Given the description of an element on the screen output the (x, y) to click on. 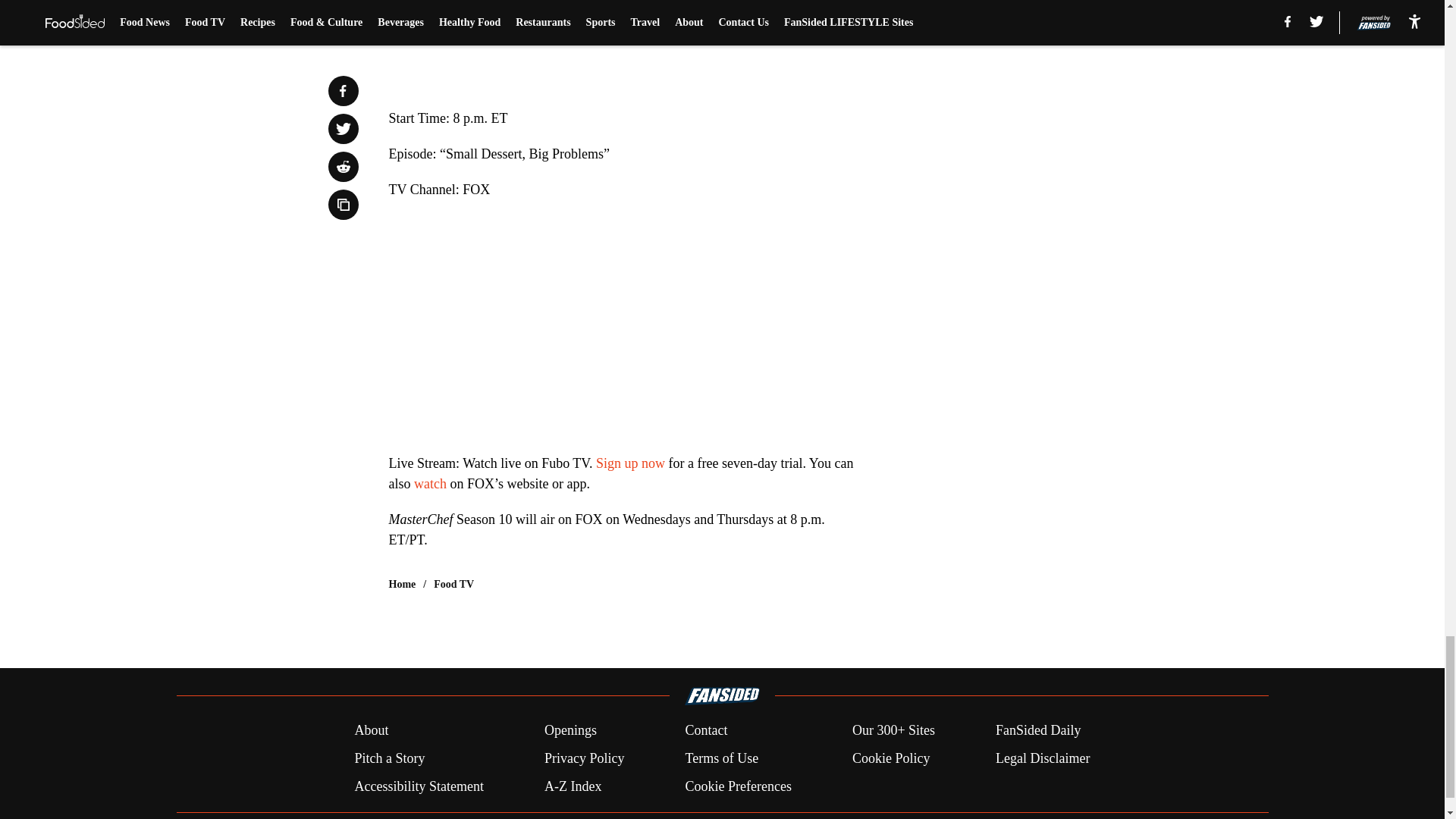
Contact (705, 730)
Openings (570, 730)
Sign up now (630, 462)
Pitch a Story (389, 758)
Home (401, 584)
Food TV (453, 584)
About (370, 730)
watch (431, 483)
FanSided Daily (1038, 730)
